Given the description of an element on the screen output the (x, y) to click on. 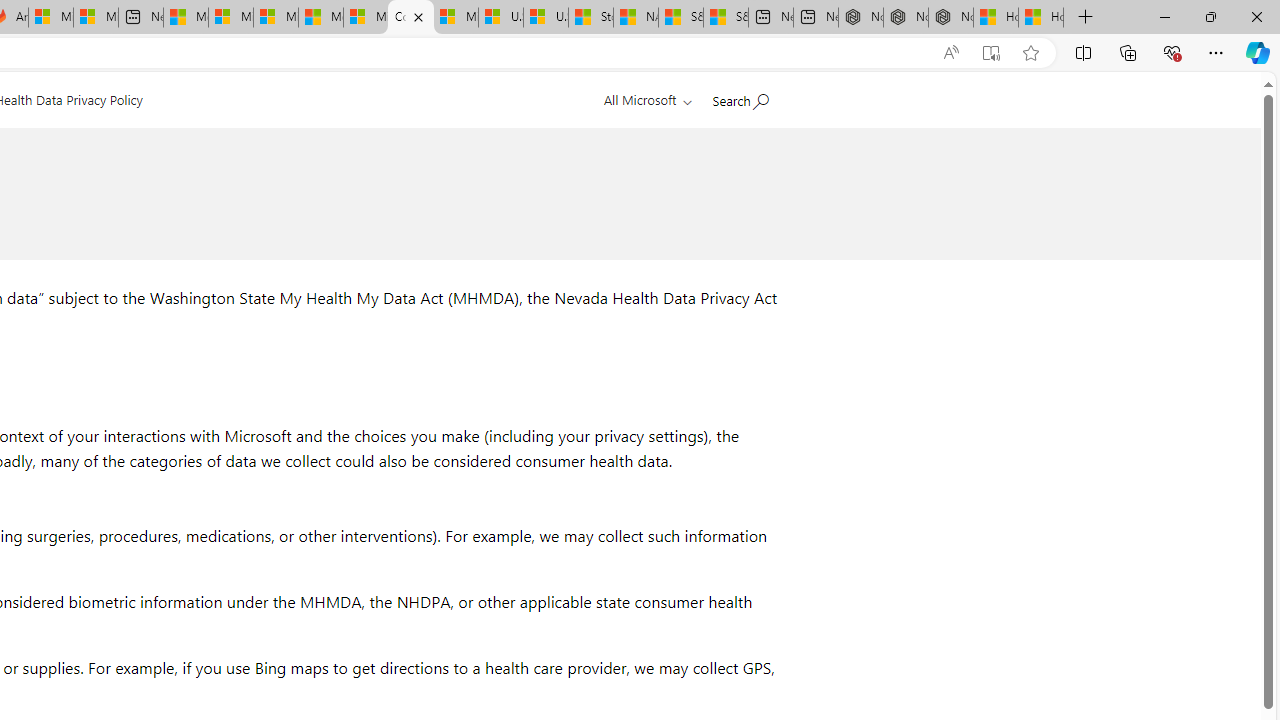
How to Use a Monitor With Your Closed Laptop (1040, 17)
Enter Immersive Reader (F9) (991, 53)
S&P 500, Nasdaq end lower, weighed by Nvidia dip | Watch (725, 17)
